Given the description of an element on the screen output the (x, y) to click on. 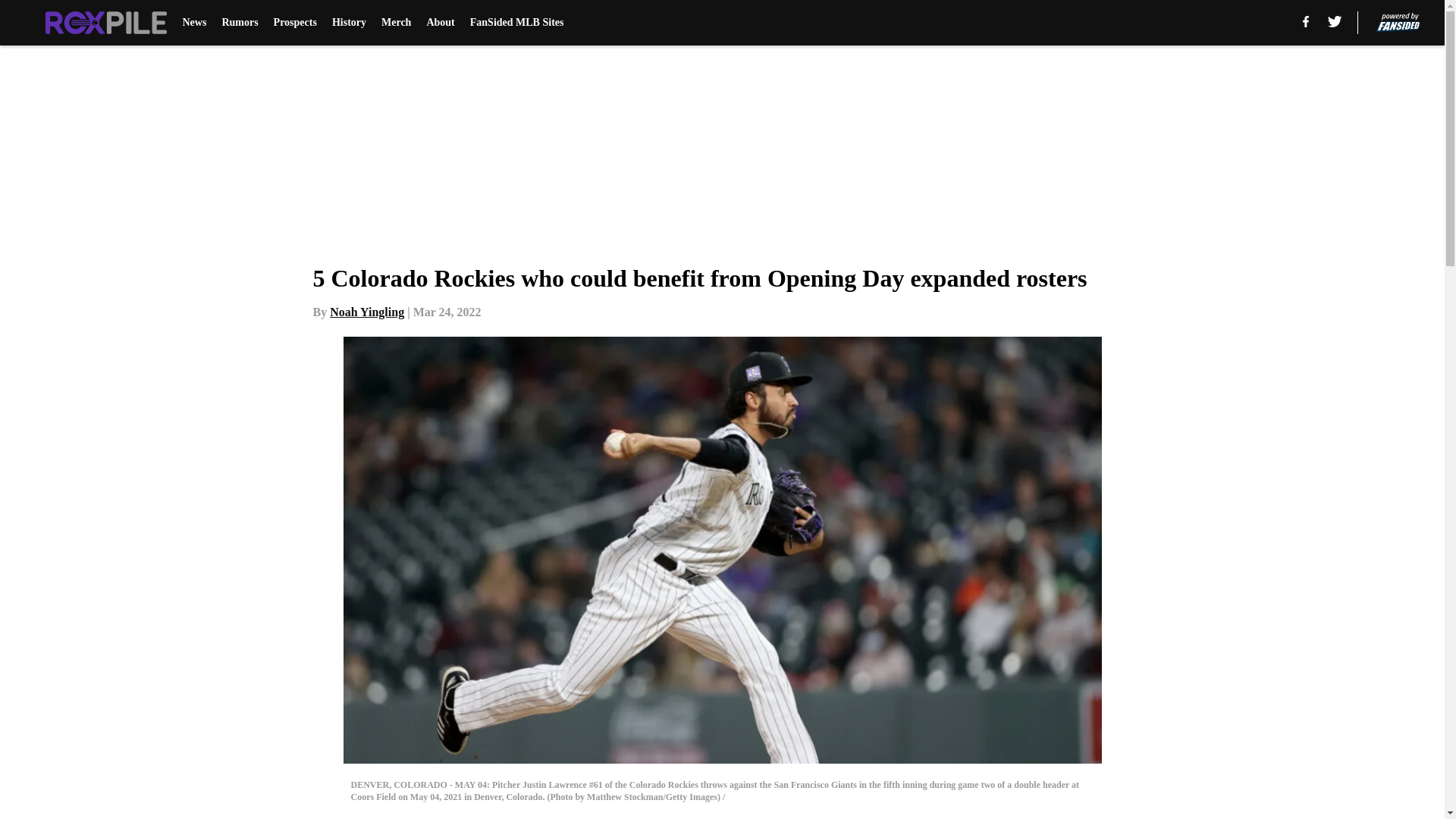
News (194, 22)
Merch (395, 22)
History (348, 22)
Prospects (295, 22)
FanSided MLB Sites (517, 22)
Noah Yingling (367, 311)
About (440, 22)
Rumors (239, 22)
